Given the description of an element on the screen output the (x, y) to click on. 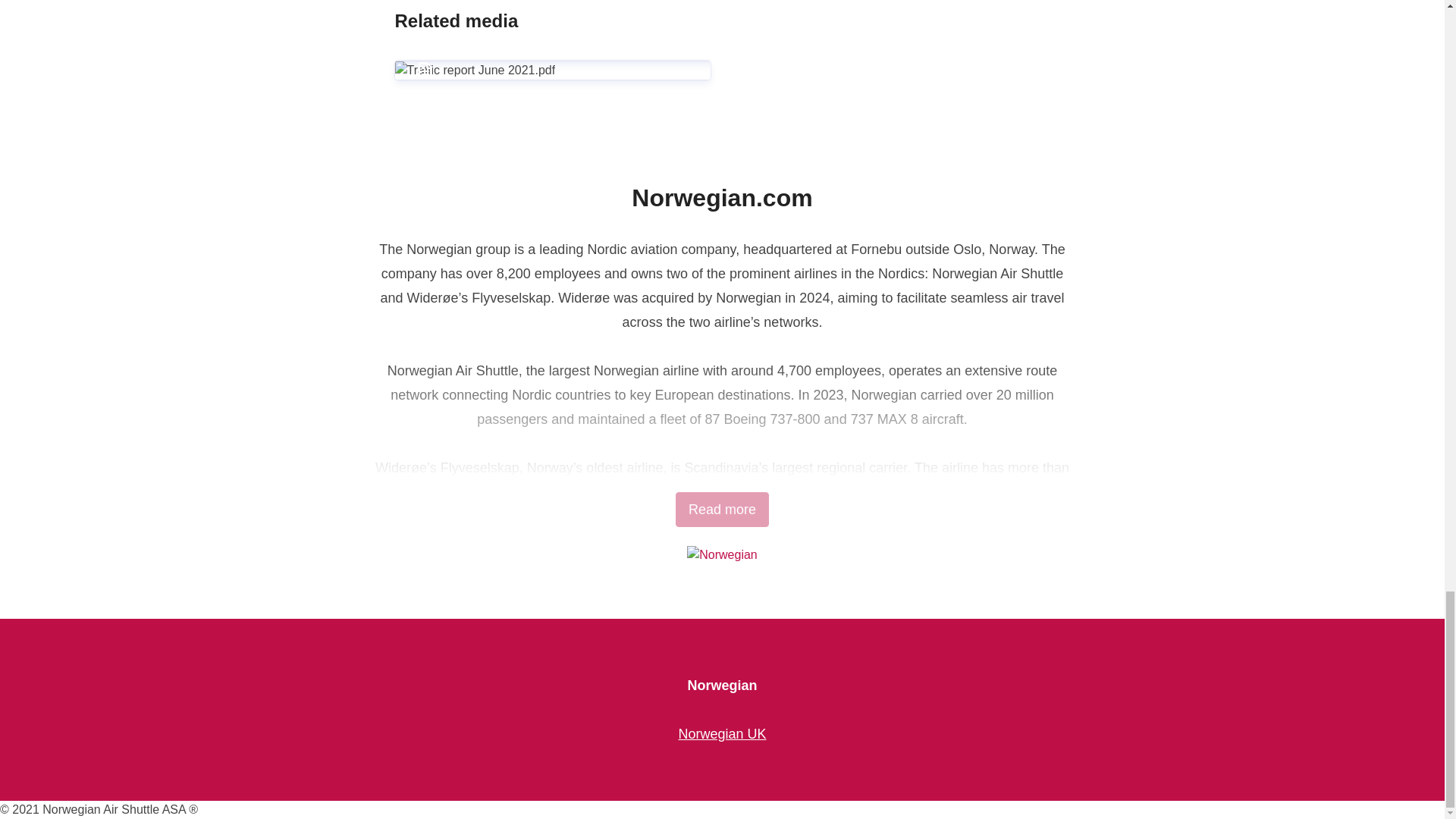
Norwegian UK (721, 734)
Traffic report June 2021.pdf (551, 43)
Read more (721, 509)
